Given the description of an element on the screen output the (x, y) to click on. 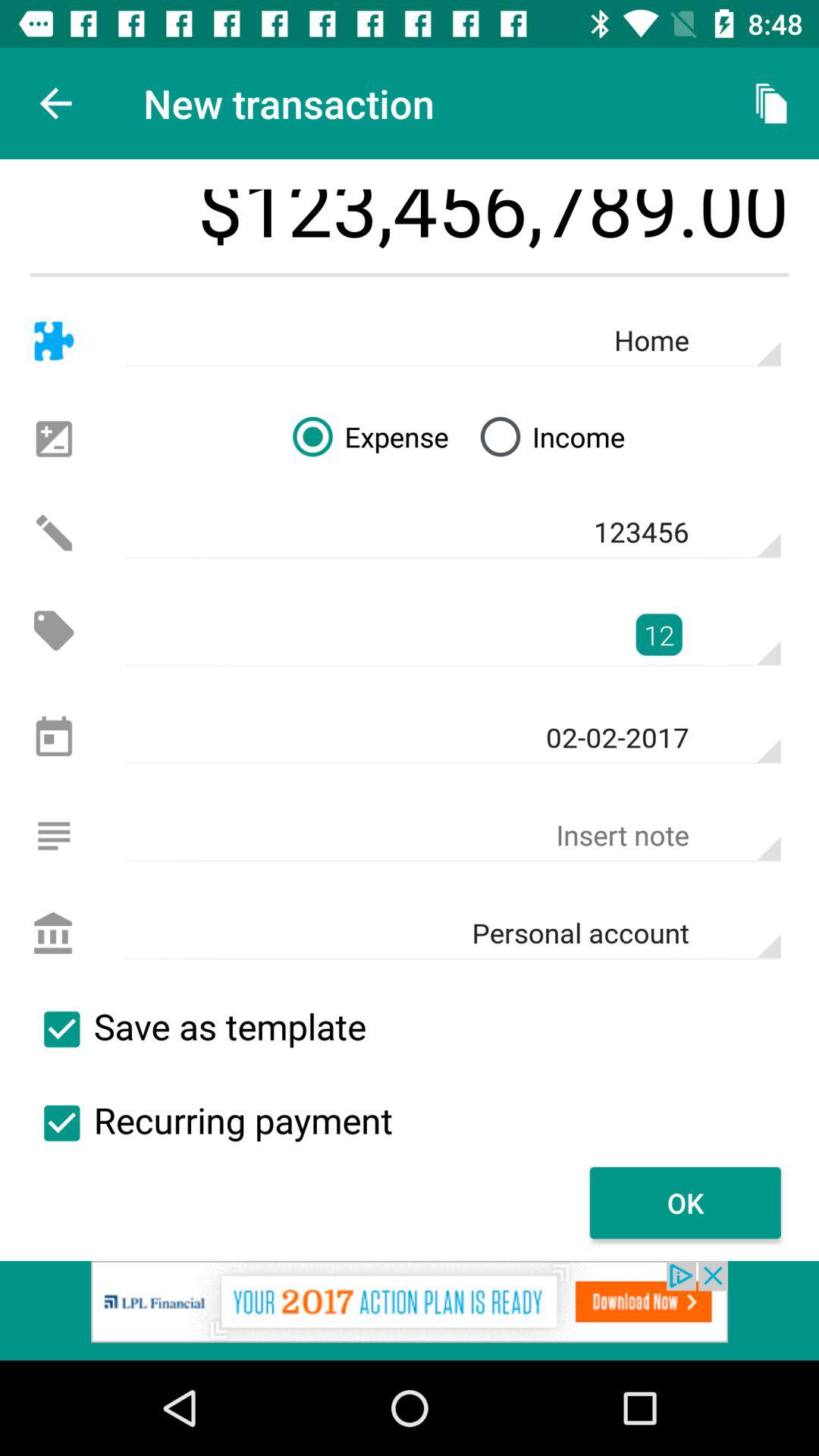
save it (61, 1029)
